Given the description of an element on the screen output the (x, y) to click on. 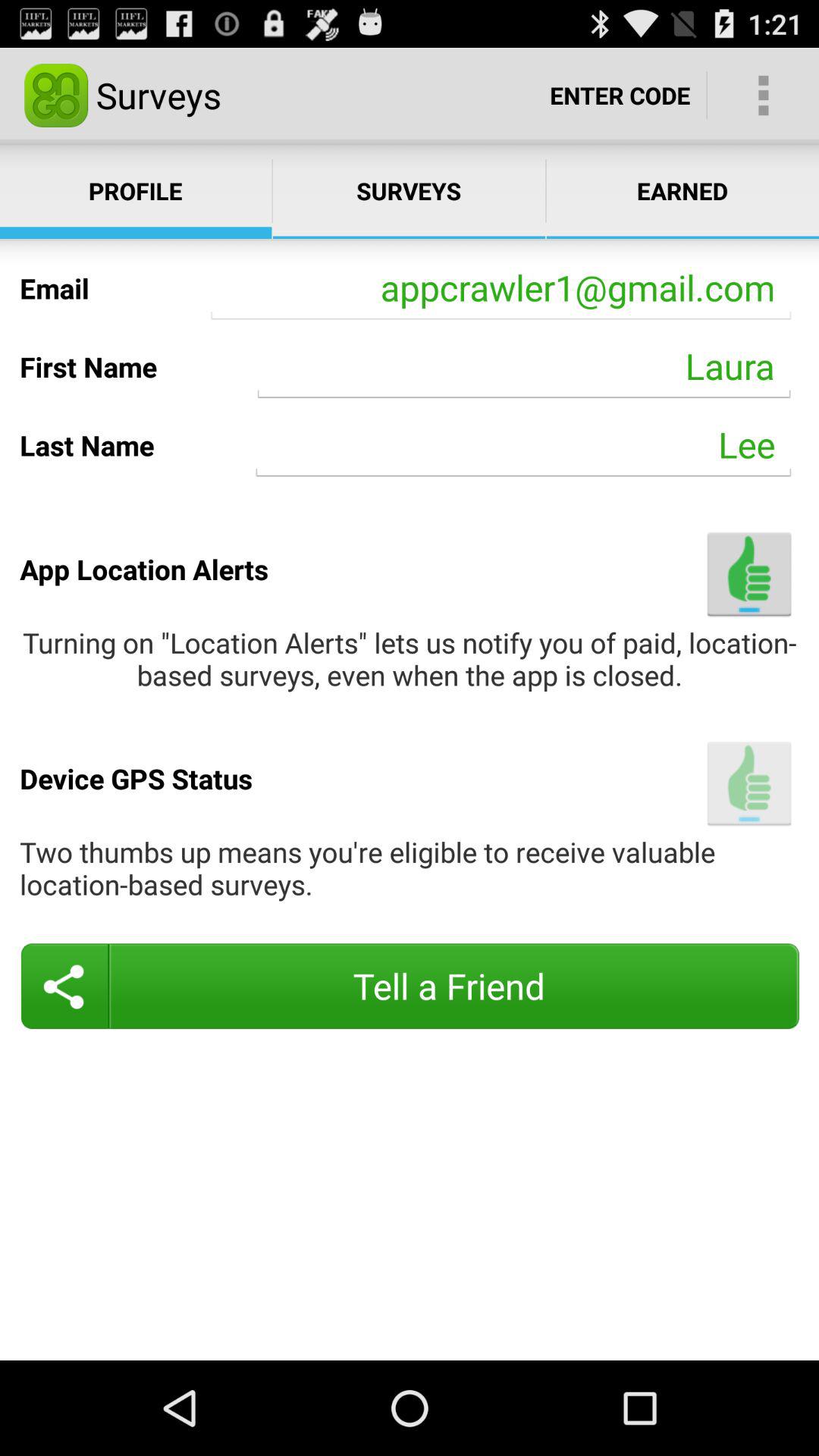
turn location alerts off (749, 573)
